Given the description of an element on the screen output the (x, y) to click on. 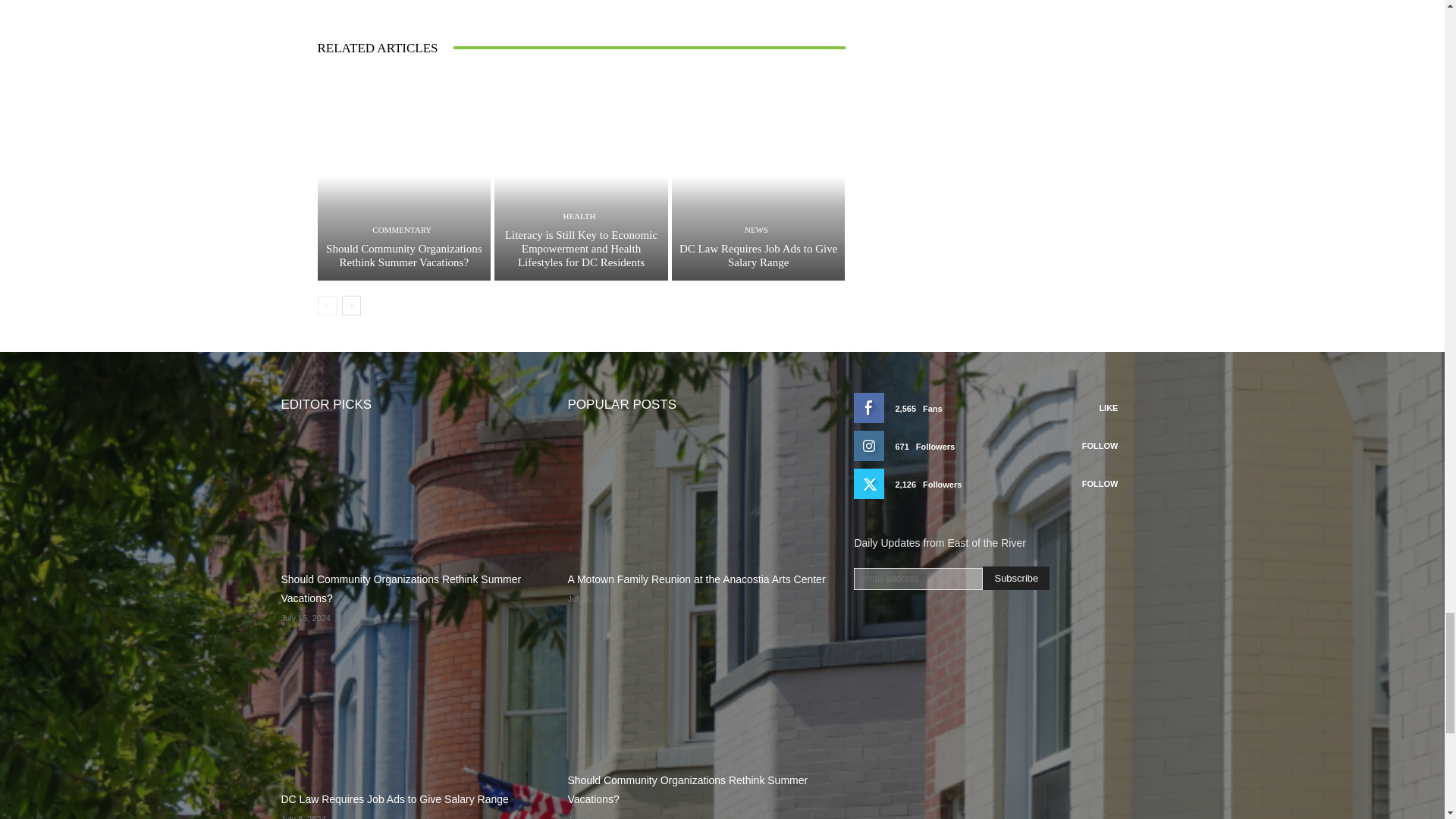
Subscribe (1015, 577)
